Given the description of an element on the screen output the (x, y) to click on. 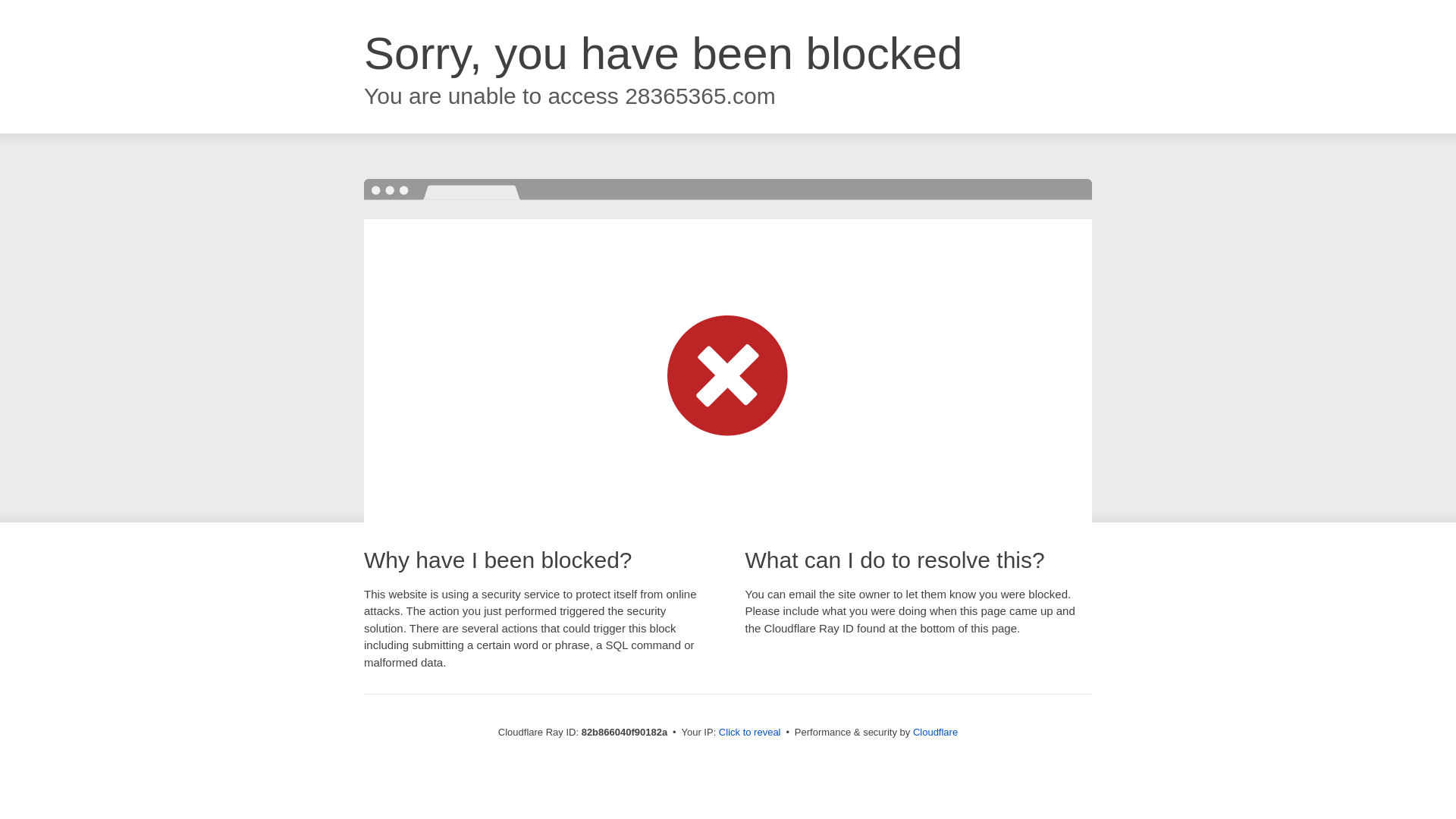
Cloudflare Element type: text (935, 731)
Click to reveal Element type: text (749, 732)
